Given the description of an element on the screen output the (x, y) to click on. 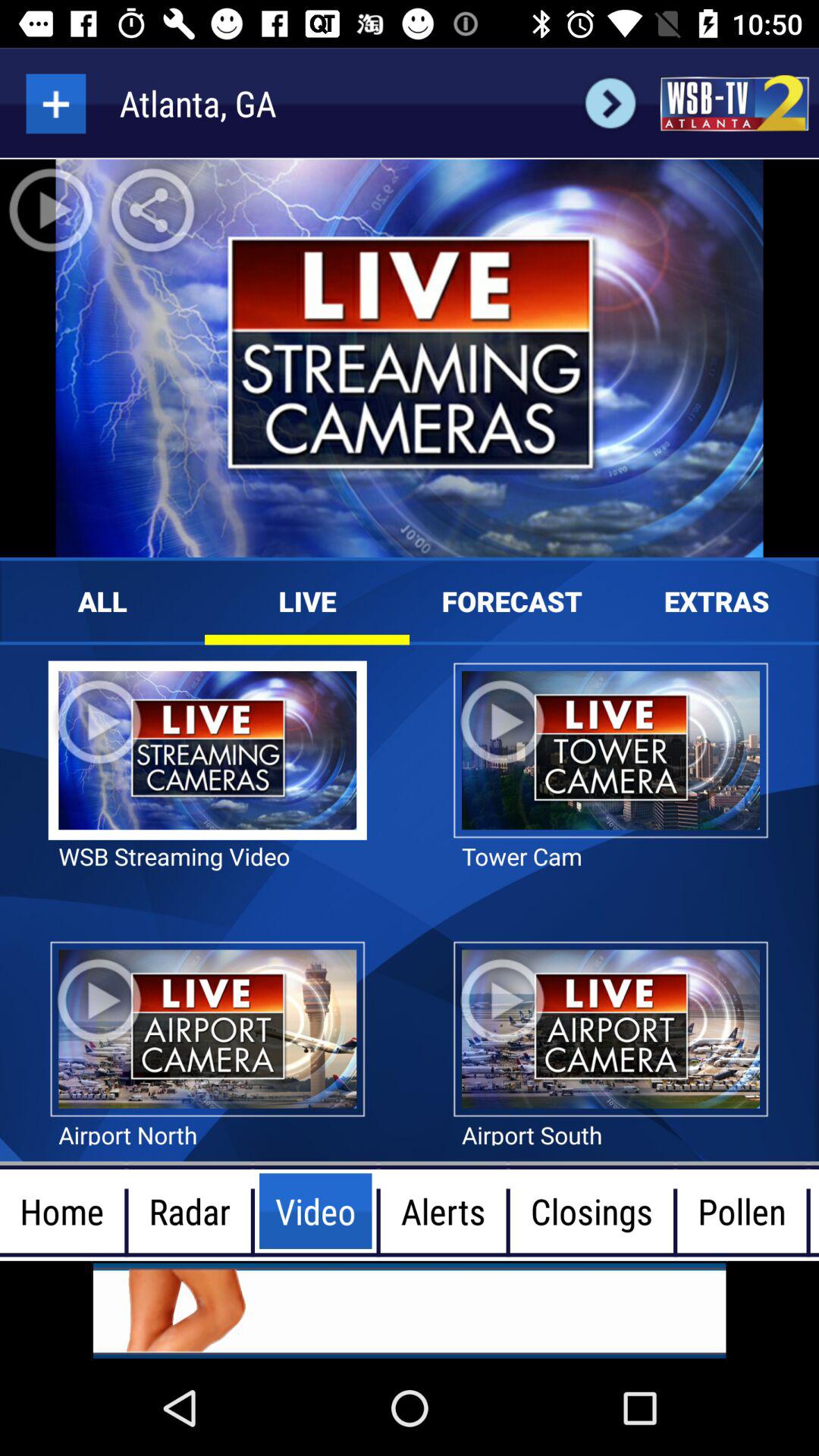
advertisement (409, 1310)
